Given the description of an element on the screen output the (x, y) to click on. 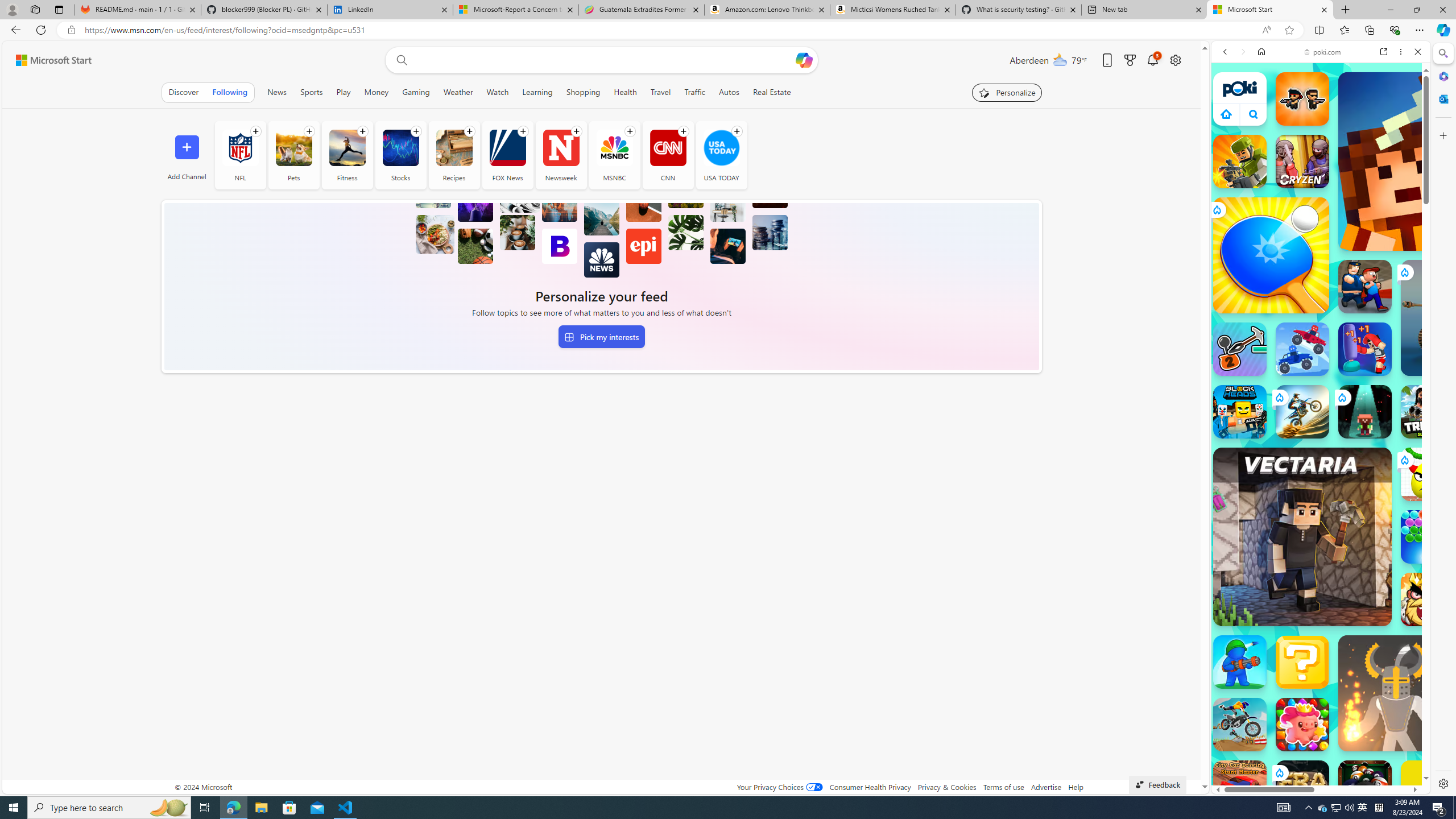
Search Filter, Search Tools (1350, 129)
8 Ball Pool With Buddies 8 Ball Pool With Buddies (1364, 787)
Recipes (454, 147)
CNN (667, 147)
Draw To Smash: Logic Puzzle Draw To Smash: Logic Puzzle (1427, 474)
Match Arena Match Arena (1302, 724)
Crazy Cars (1419, 574)
Crazy Bikes (1239, 724)
Bubble Shooter Bubble Shooter (1427, 536)
